Given the description of an element on the screen output the (x, y) to click on. 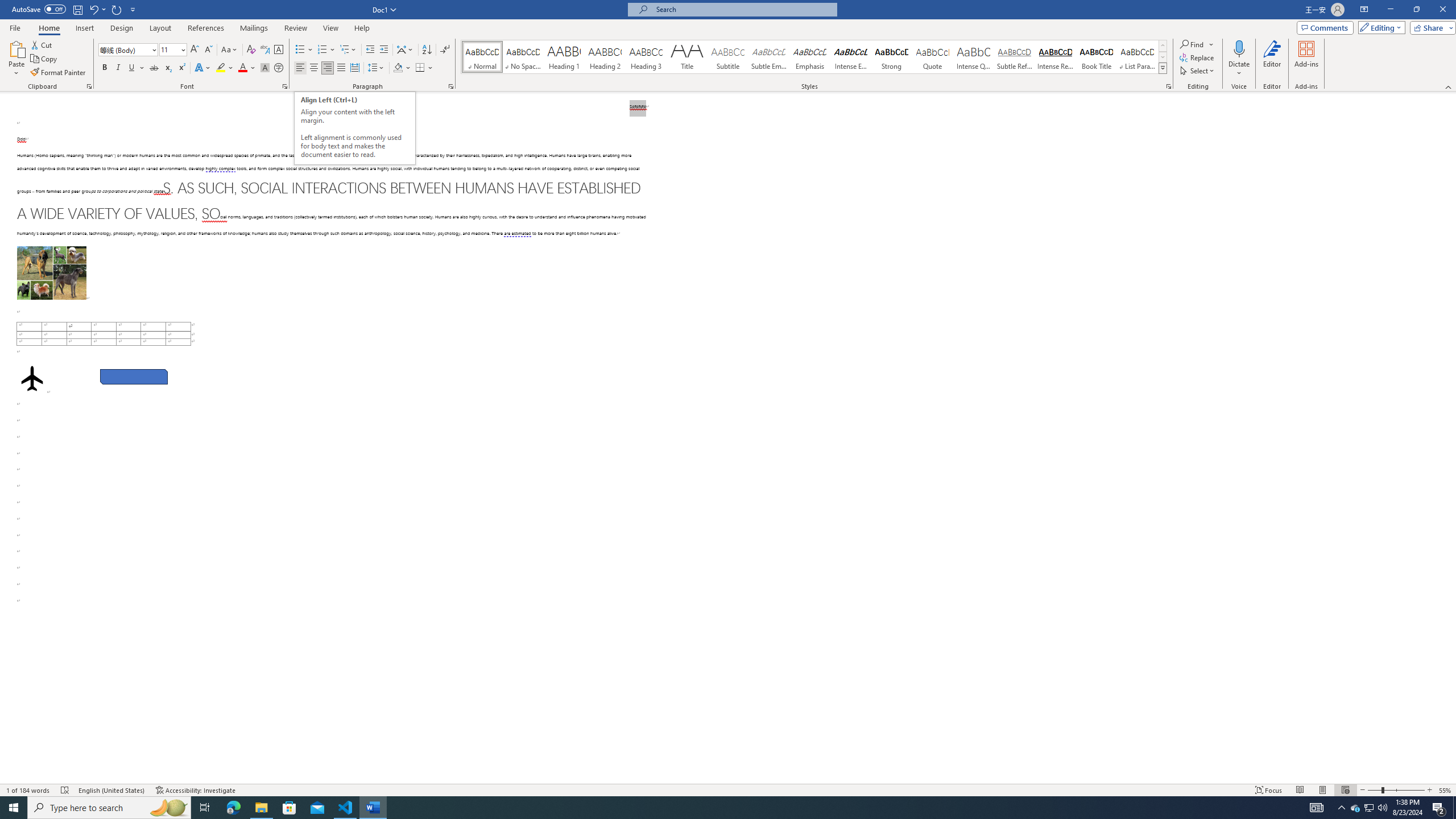
Strong (891, 56)
Repeat Paragraph Alignment (117, 9)
Rectangle: Diagonal Corners Snipped 2 (133, 376)
Book Title (1095, 56)
